Given the description of an element on the screen output the (x, y) to click on. 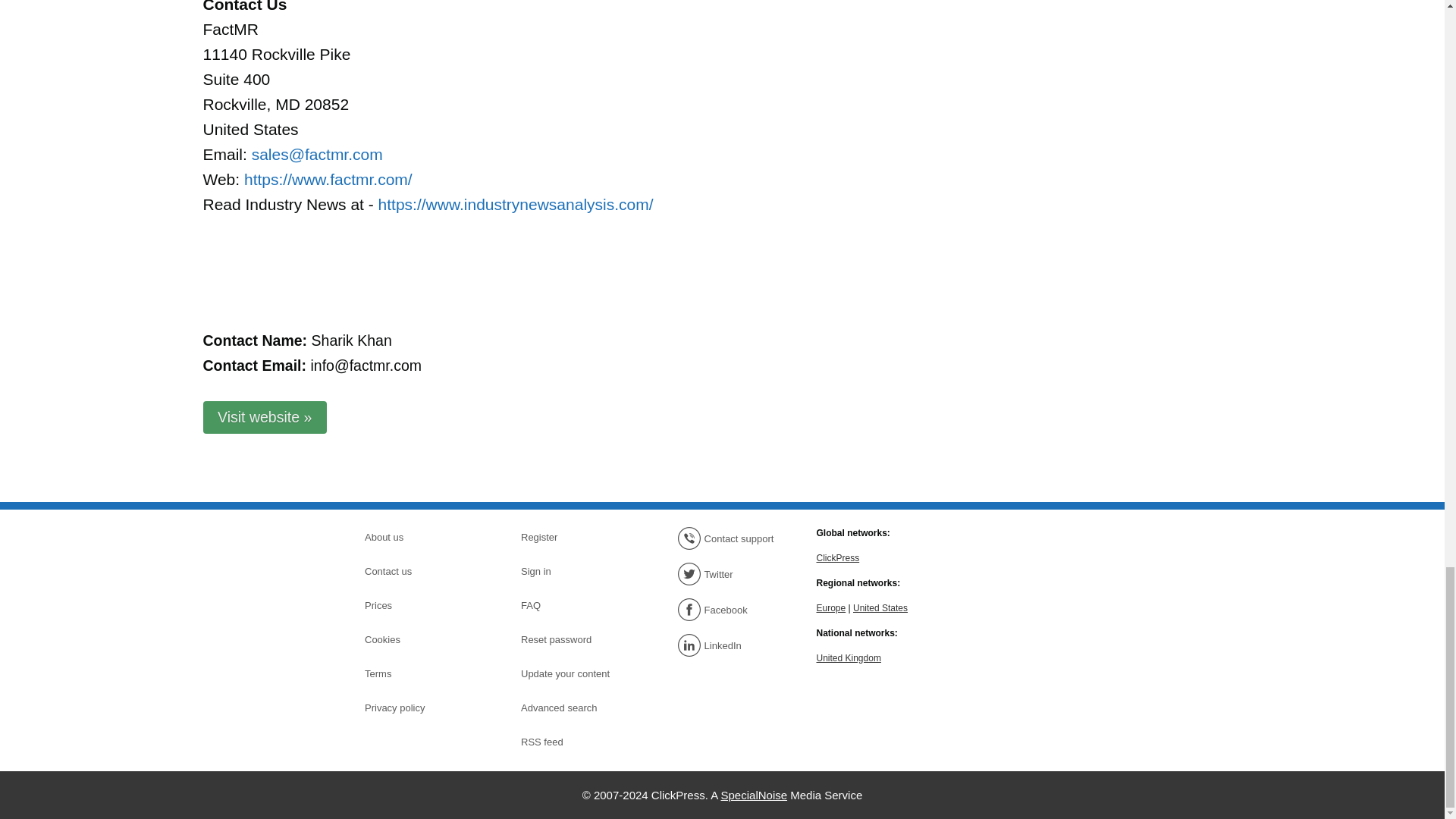
Facebook (730, 609)
Register (574, 537)
Advanced search (574, 707)
ClickPress (837, 557)
Prices (417, 605)
Cookies (417, 639)
Terms (417, 673)
Privacy policy (417, 707)
Europe (830, 606)
Sign in (574, 571)
